Given the description of an element on the screen output the (x, y) to click on. 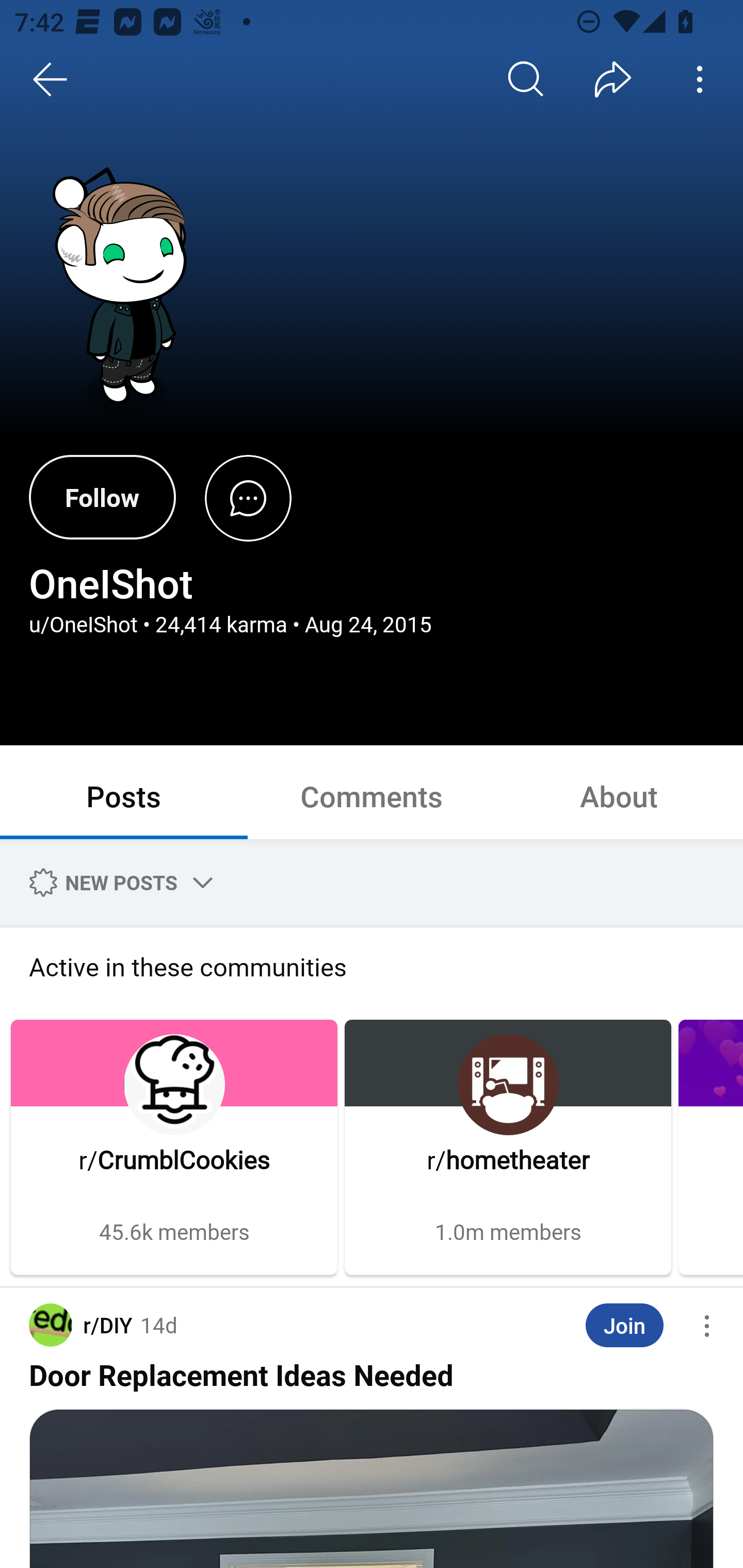
Back (50, 79)
Search profile (525, 79)
Share OneIShot profile (612, 79)
More profile actions (699, 79)
User Avatar (126, 292)
Follow (102, 496)
Send message (248, 497)
Comments (371, 795)
About (619, 795)
NEW POSTS Sort by New posts (117, 881)
r/hometheater 1.0m members 1.0 million members (507, 1146)
Avatar r/DIY (80, 1324)
14d (158, 1324)
Join (624, 1325)
Overflow menu (706, 1325)
